Given the description of an element on the screen output the (x, y) to click on. 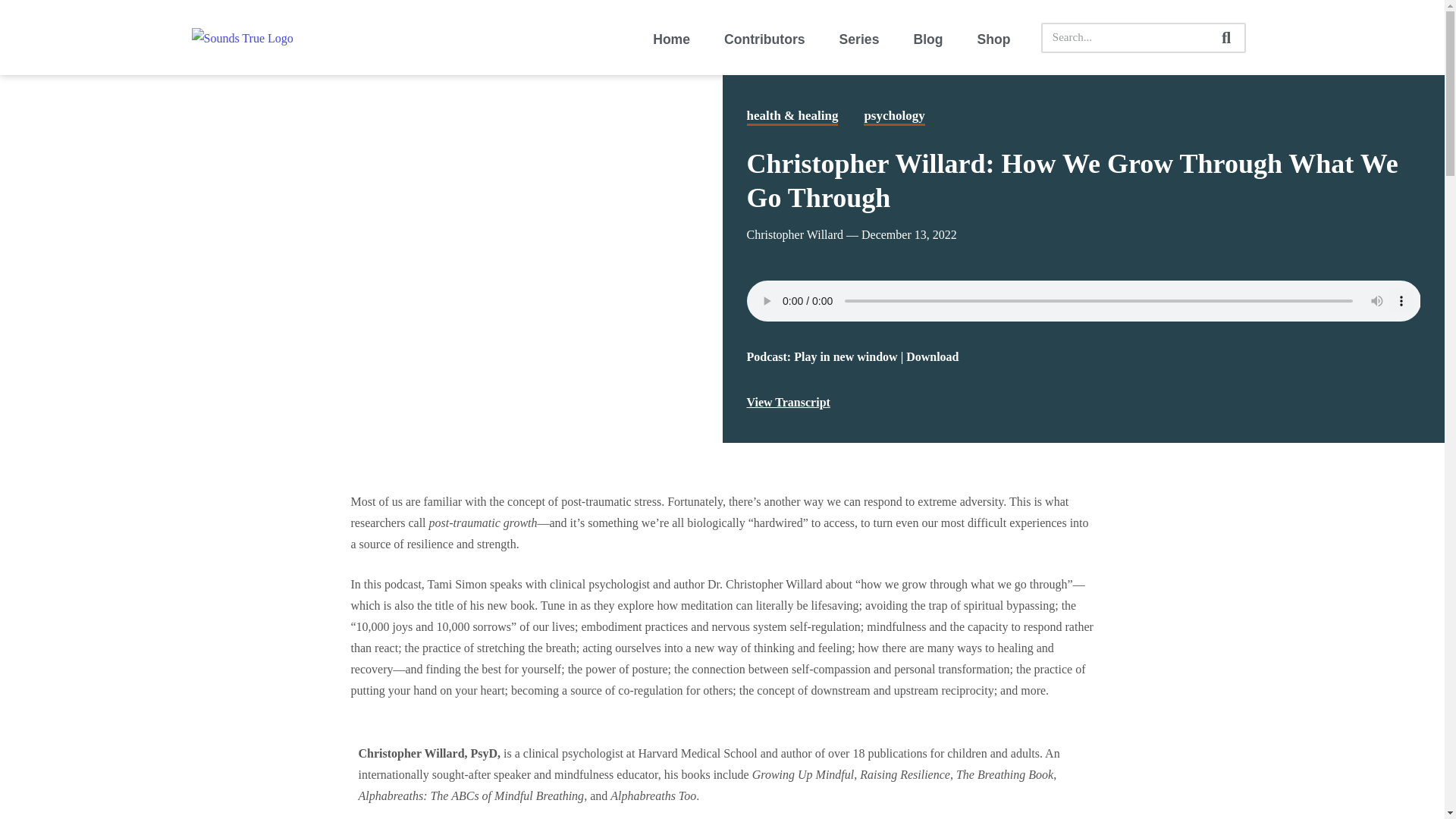
Download (931, 356)
View Transcript (787, 402)
Search (1125, 37)
Download (931, 356)
View transcript (787, 402)
Contributors (764, 39)
Christopher Willard (794, 234)
Play in new window (844, 356)
Shop (993, 39)
Blog (927, 39)
